Given the description of an element on the screen output the (x, y) to click on. 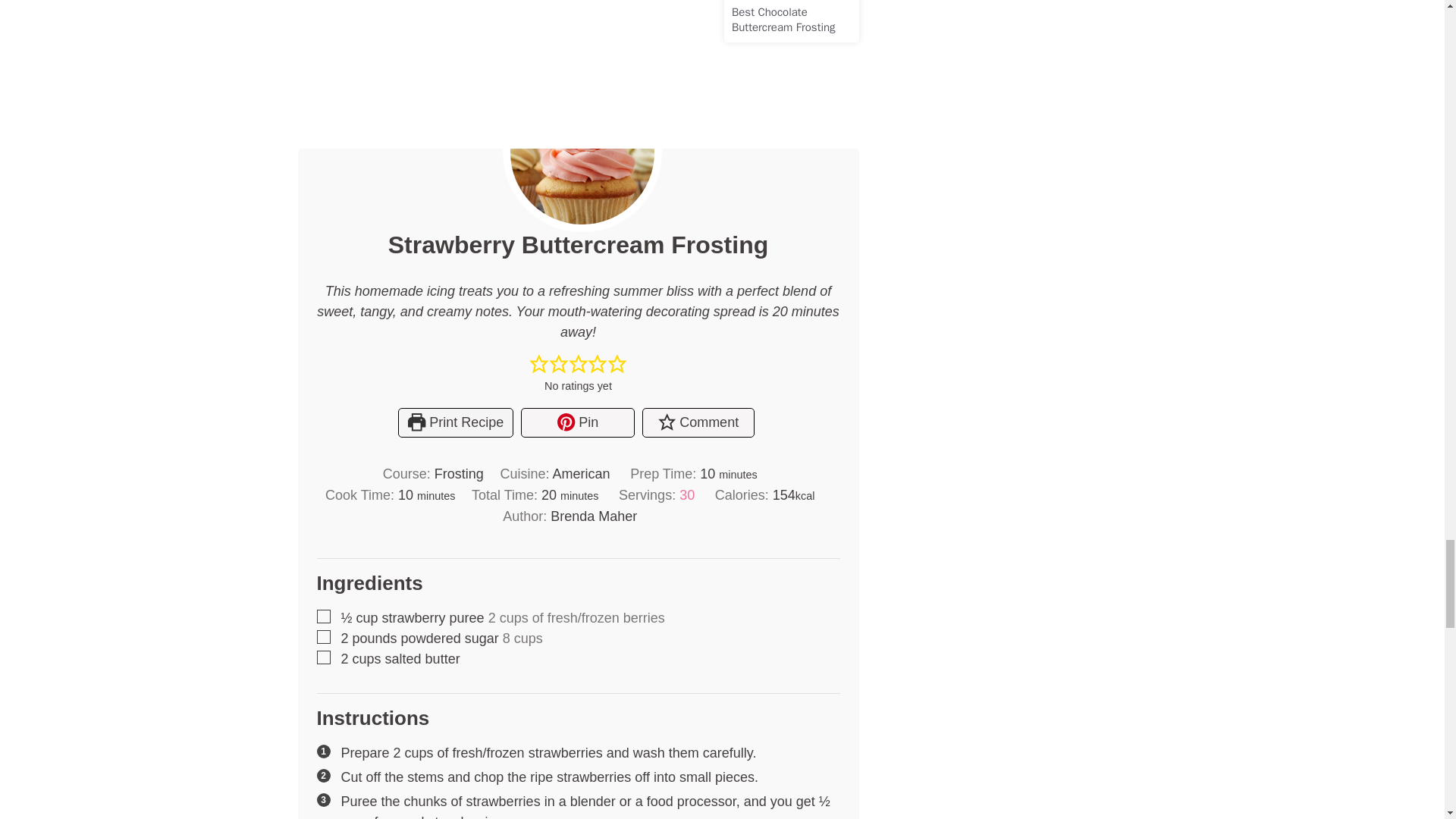
Comment (698, 422)
Print Recipe (455, 422)
Best Chocolate Buttercream Frosting (783, 19)
30 (686, 494)
Pin (577, 422)
